Given the description of an element on the screen output the (x, y) to click on. 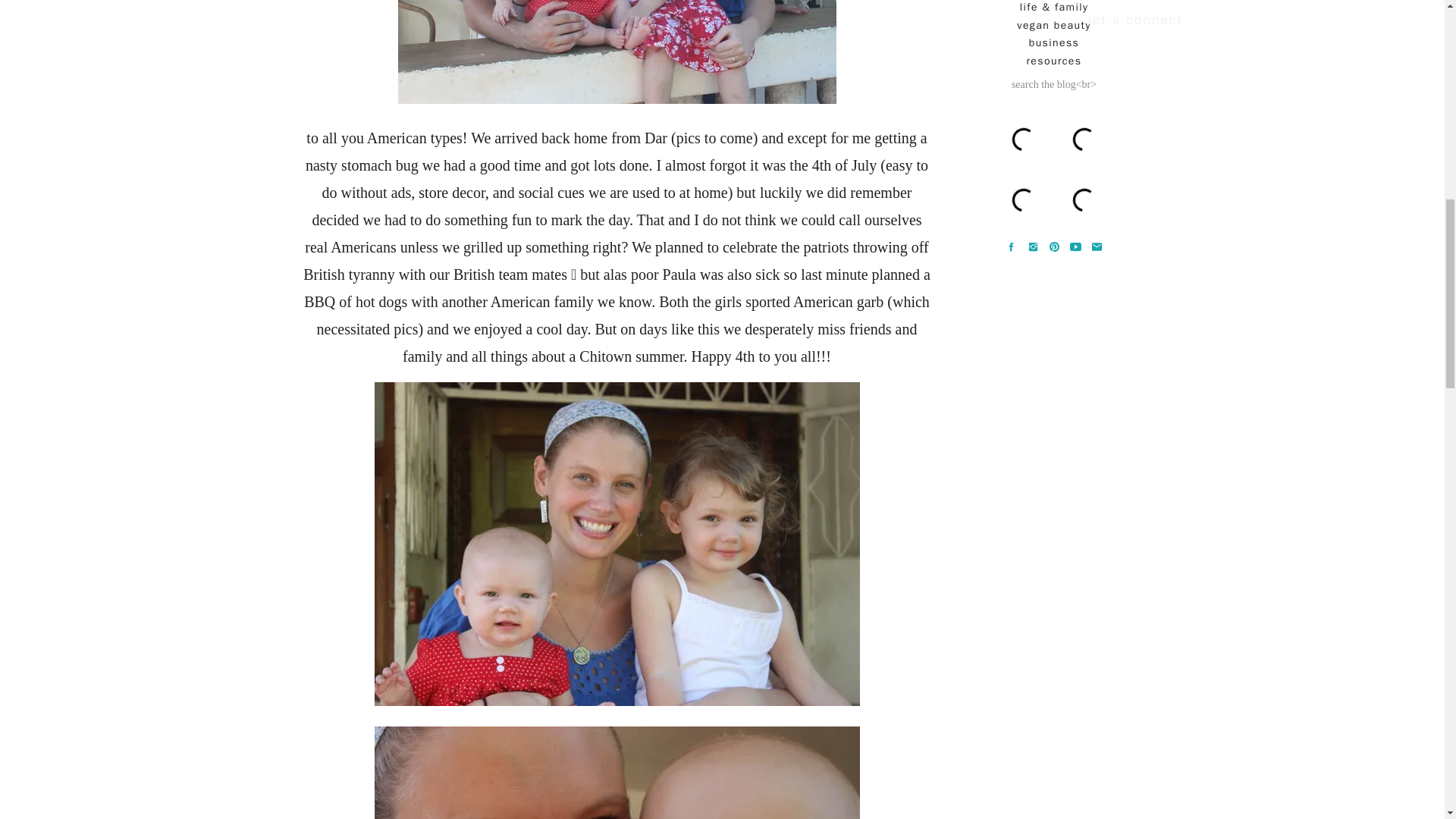
follow along on insta (1053, 172)
4th of July 013.jpgedit by Roxanne E, on Flickr (617, 700)
business (1053, 42)
resources (1053, 61)
4th of July 009.jpgedit by Roxanne E, on Flickr (616, 98)
vegan beauty (1053, 25)
